Given the description of an element on the screen output the (x, y) to click on. 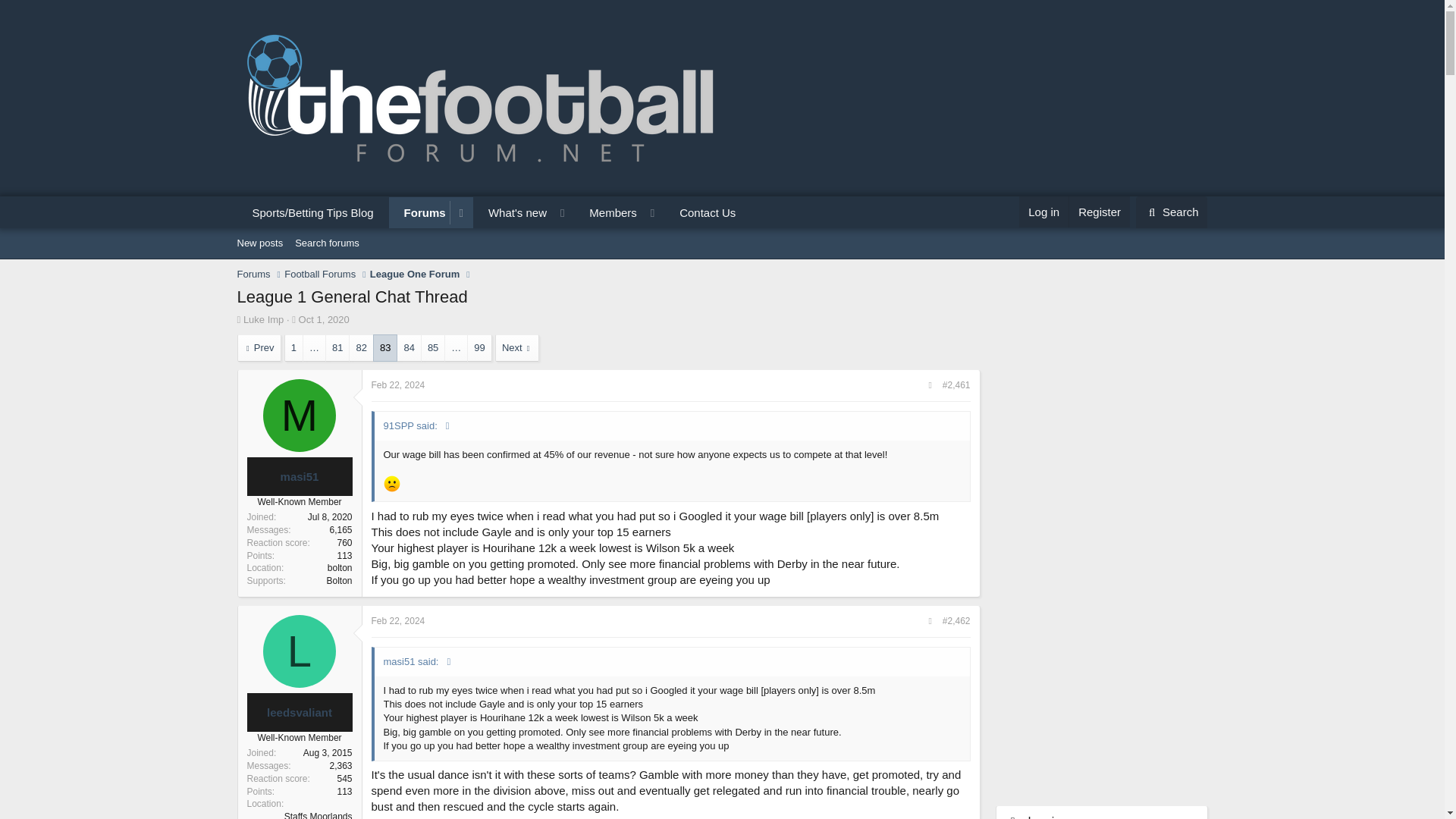
Log in (1043, 211)
Search (1171, 212)
Oct 1, 2020 at 8:58 AM (323, 319)
Feb 22, 2024 at 12:47 PM (398, 620)
Search forums (326, 242)
Members (606, 212)
Football Forums (319, 273)
New posts (259, 242)
League One Forum (414, 273)
Oct 1, 2020 (323, 319)
Prev (258, 347)
Contact Us (707, 212)
Feb 22, 2024 at 7:19 AM (398, 385)
What's new (511, 212)
Forums (418, 212)
